Given the description of an element on the screen output the (x, y) to click on. 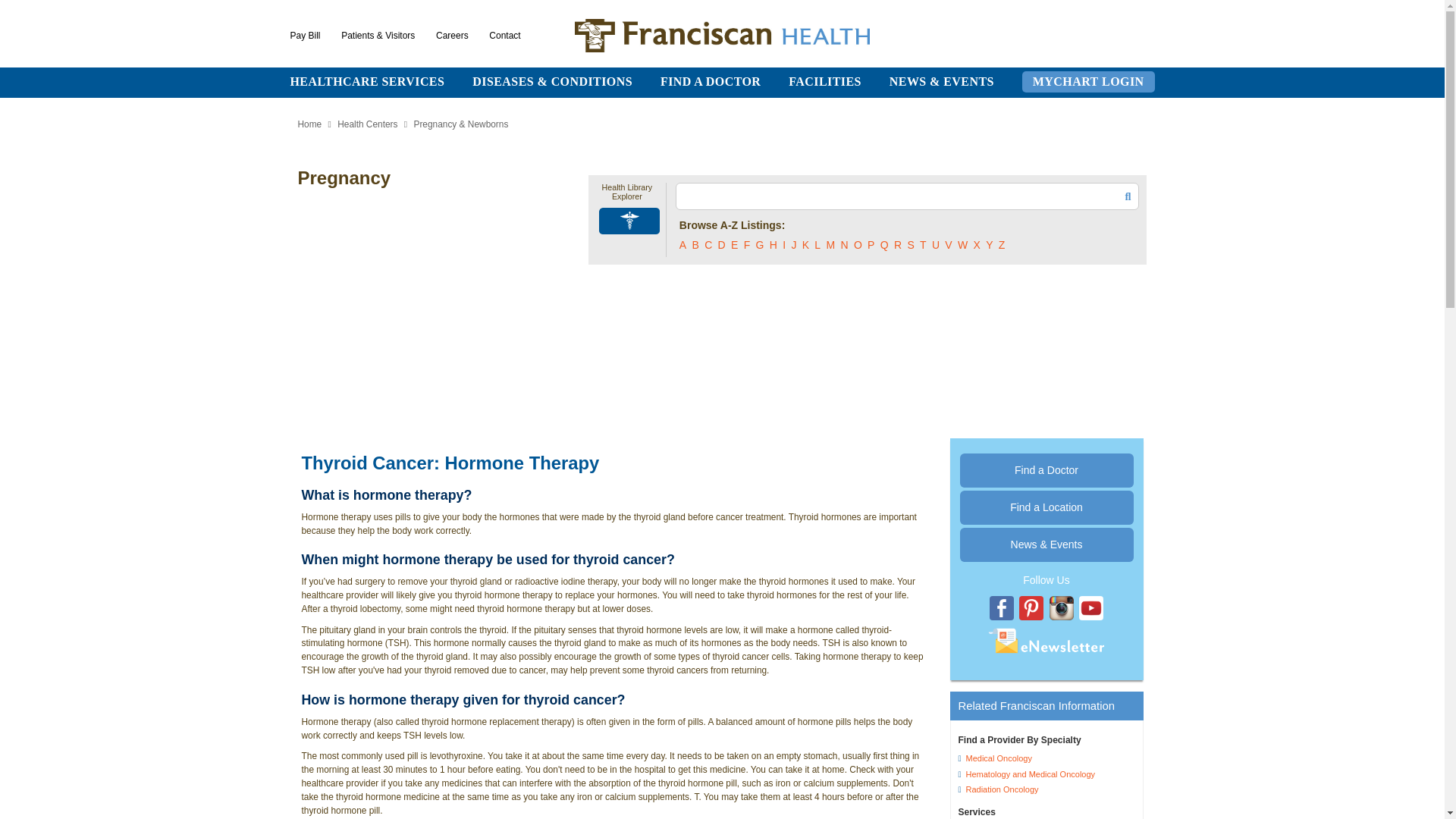
D (721, 244)
Health Library Explorer Toggle (629, 221)
Find a Doctor (1046, 470)
I (783, 244)
Contact (504, 35)
C (708, 244)
HEALTHCARE SERVICES (366, 81)
FACILITIES (825, 81)
B (695, 244)
Follow Us on Facebook - opens in a new window (1001, 608)
J (793, 244)
A (682, 244)
Careers (451, 35)
L (817, 244)
Follow Us on YouTube - opens in a new window (1091, 608)
